Given the description of an element on the screen output the (x, y) to click on. 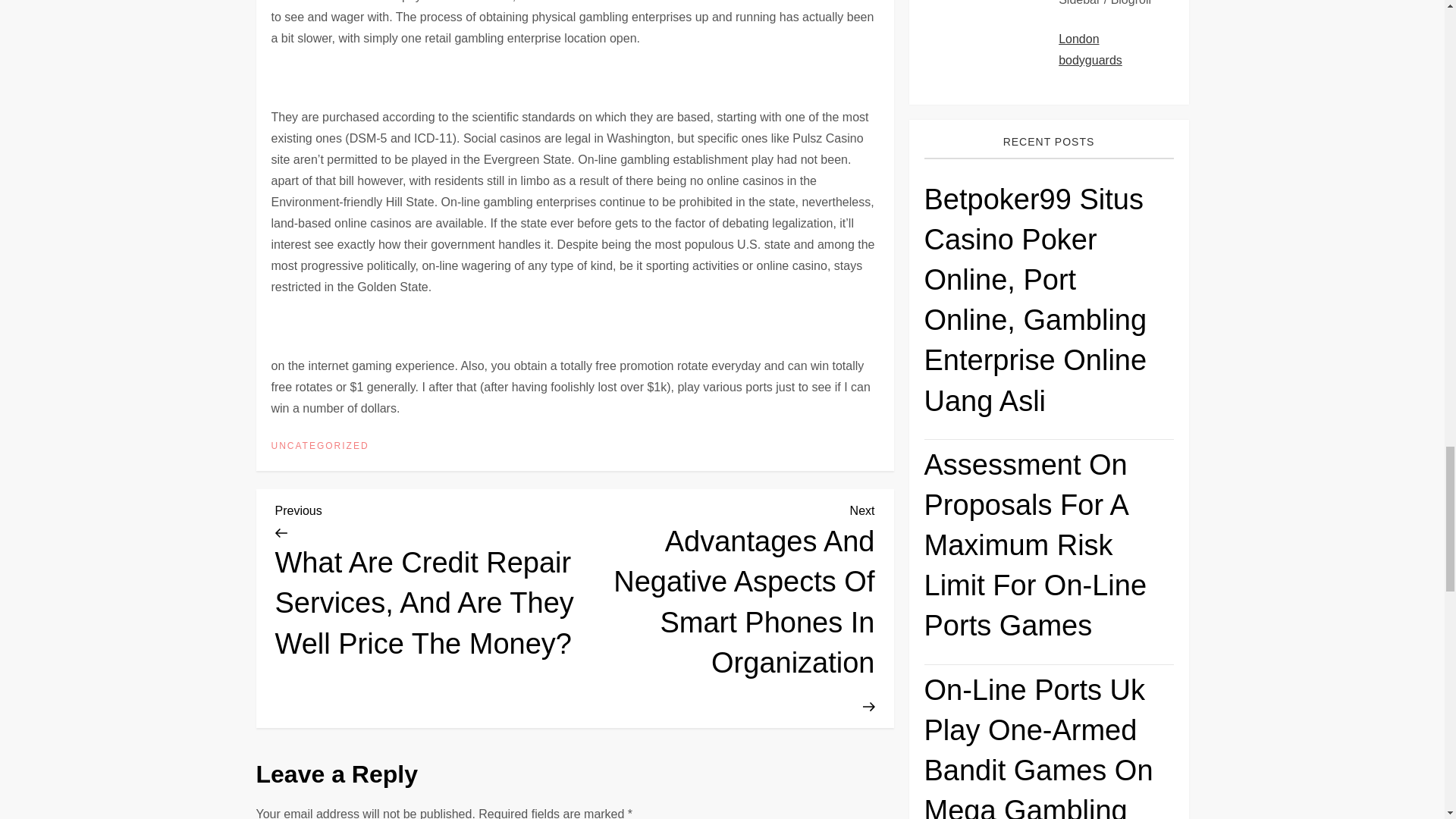
UNCATEGORIZED (319, 446)
